Given the description of an element on the screen output the (x, y) to click on. 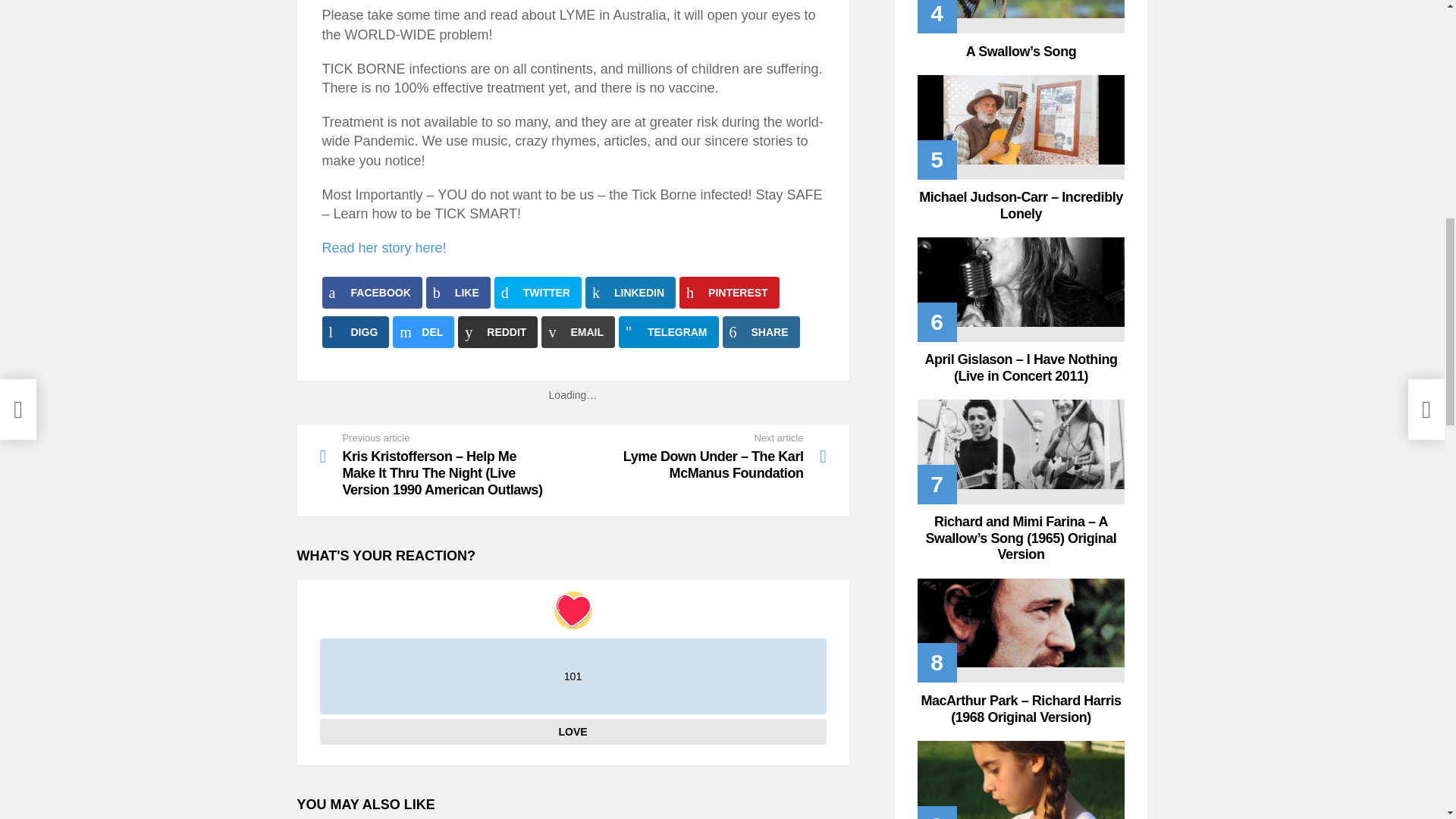
Read her story here! (383, 247)
FACEBOOK (371, 292)
Share on Share (760, 332)
DEL (423, 332)
Share on Digg (354, 332)
Share on Twitter (537, 292)
Share on Pinterest (728, 292)
Share on Del (423, 332)
REDDIT (497, 332)
Share on Reddit (497, 332)
PINTEREST (728, 292)
LINKEDIN (630, 292)
DIGG (354, 332)
Share on Telegram (668, 332)
Share on LinkedIn (630, 292)
